Given the description of an element on the screen output the (x, y) to click on. 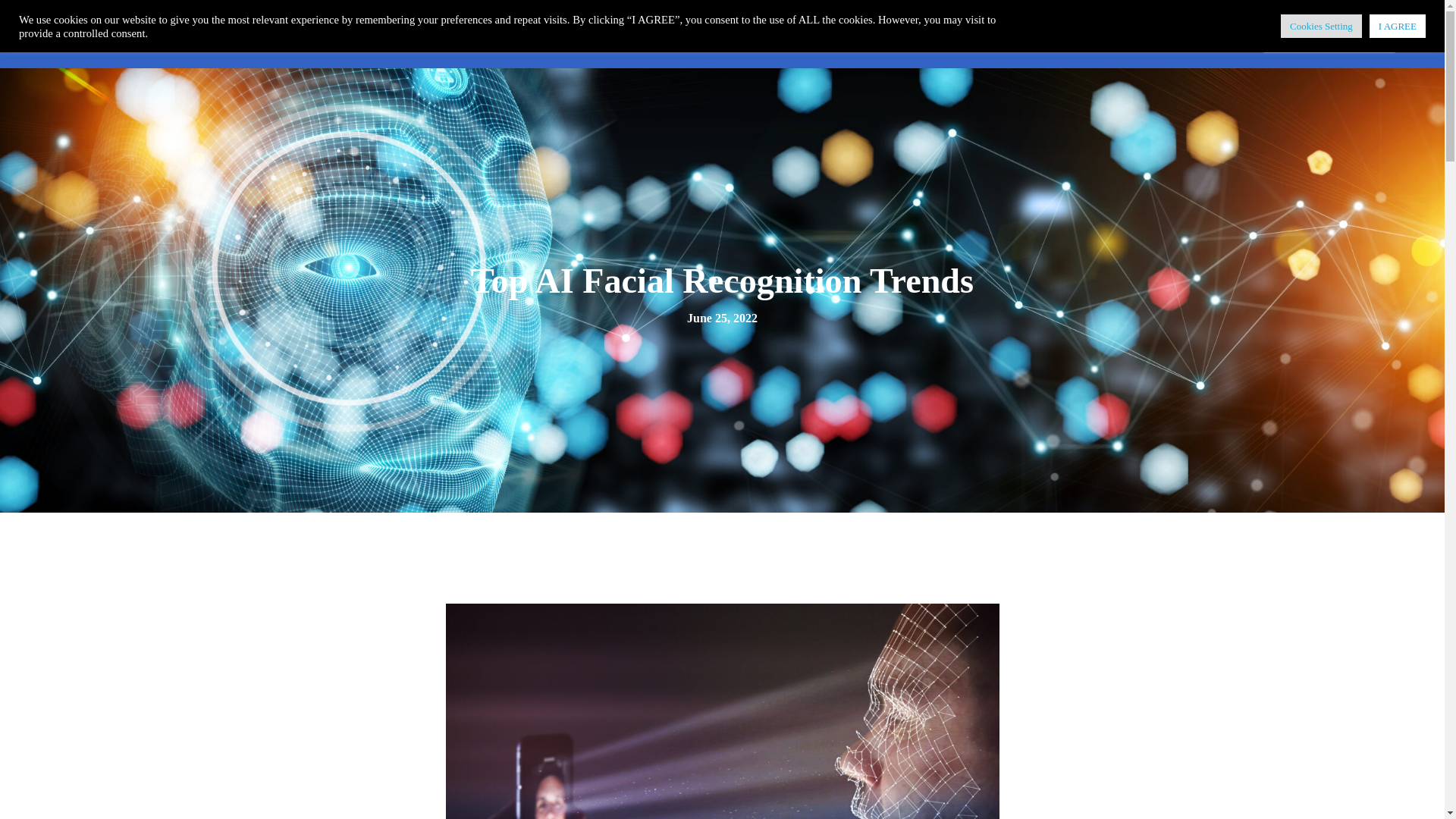
SERVICES (649, 32)
ABOUT (730, 32)
RESOURCES (820, 32)
RESOURCES (820, 32)
ABOUT (730, 32)
SERVICES (649, 32)
DEVELOPMENT (540, 32)
CAREERS (916, 32)
DEVELOPMENT (540, 32)
CAREERS (916, 32)
GET STARTED (1328, 34)
